Given the description of an element on the screen output the (x, y) to click on. 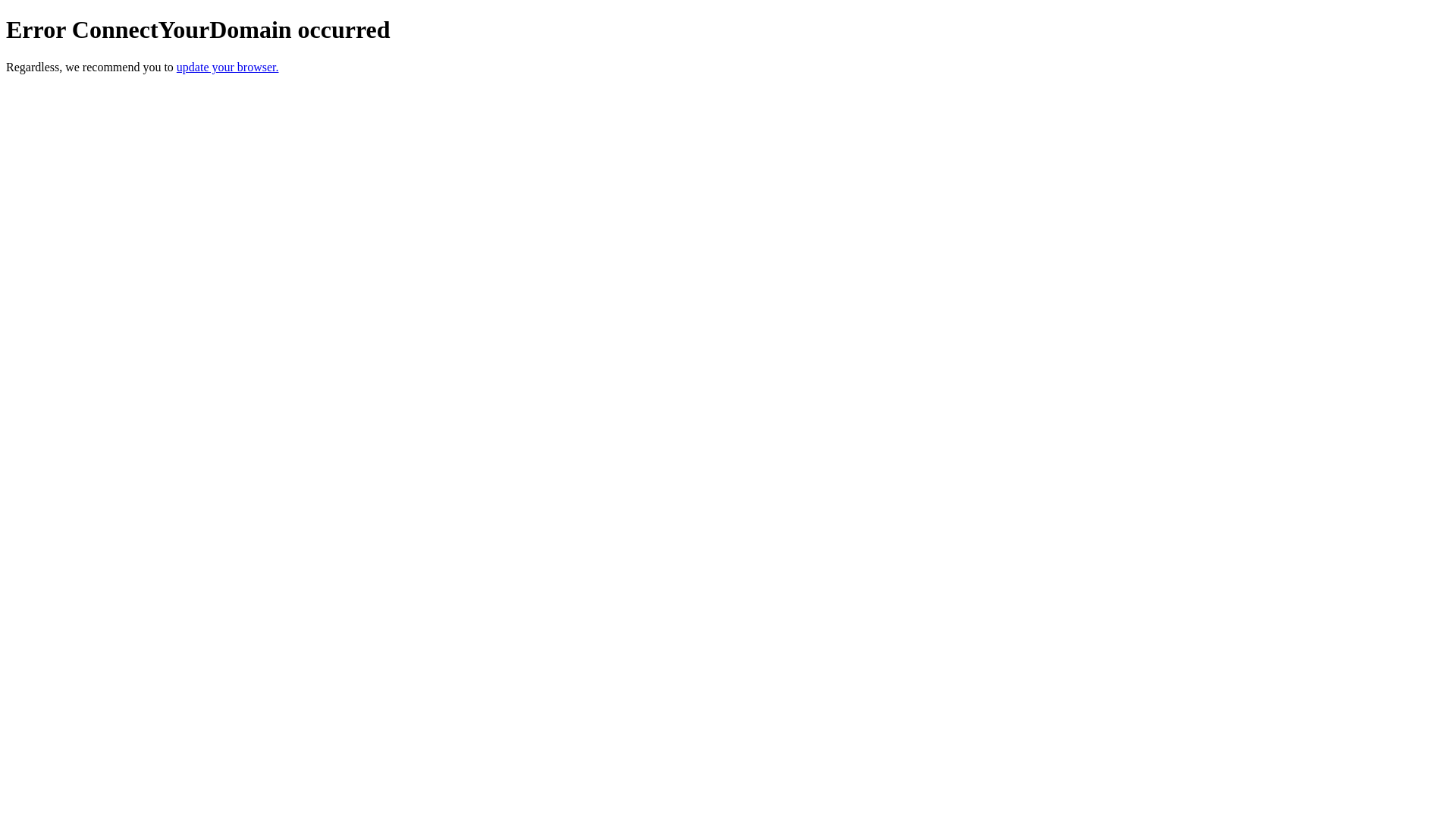
update your browser. Element type: text (227, 66)
